Given the description of an element on the screen output the (x, y) to click on. 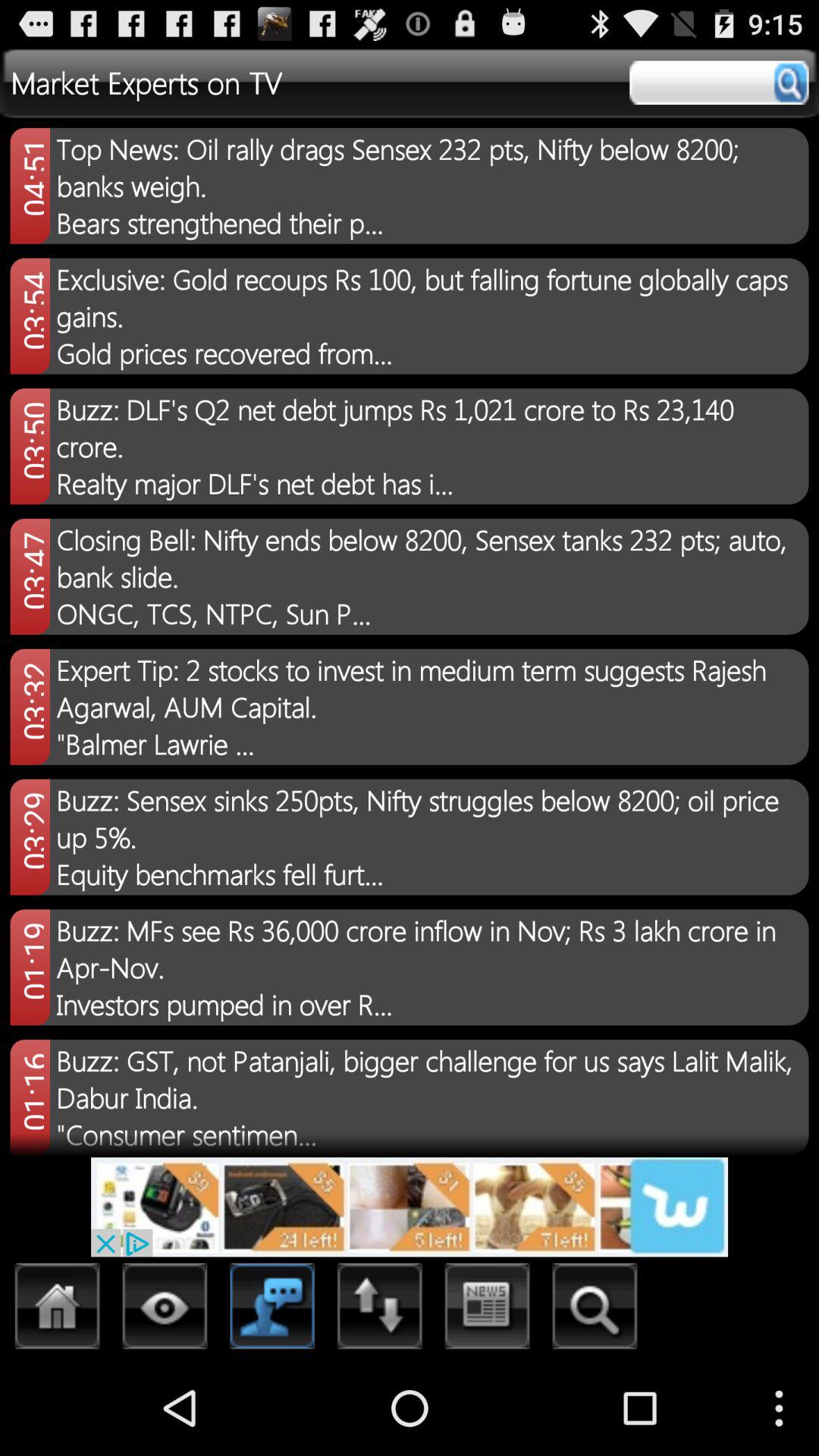
vector option (164, 1310)
